Given the description of an element on the screen output the (x, y) to click on. 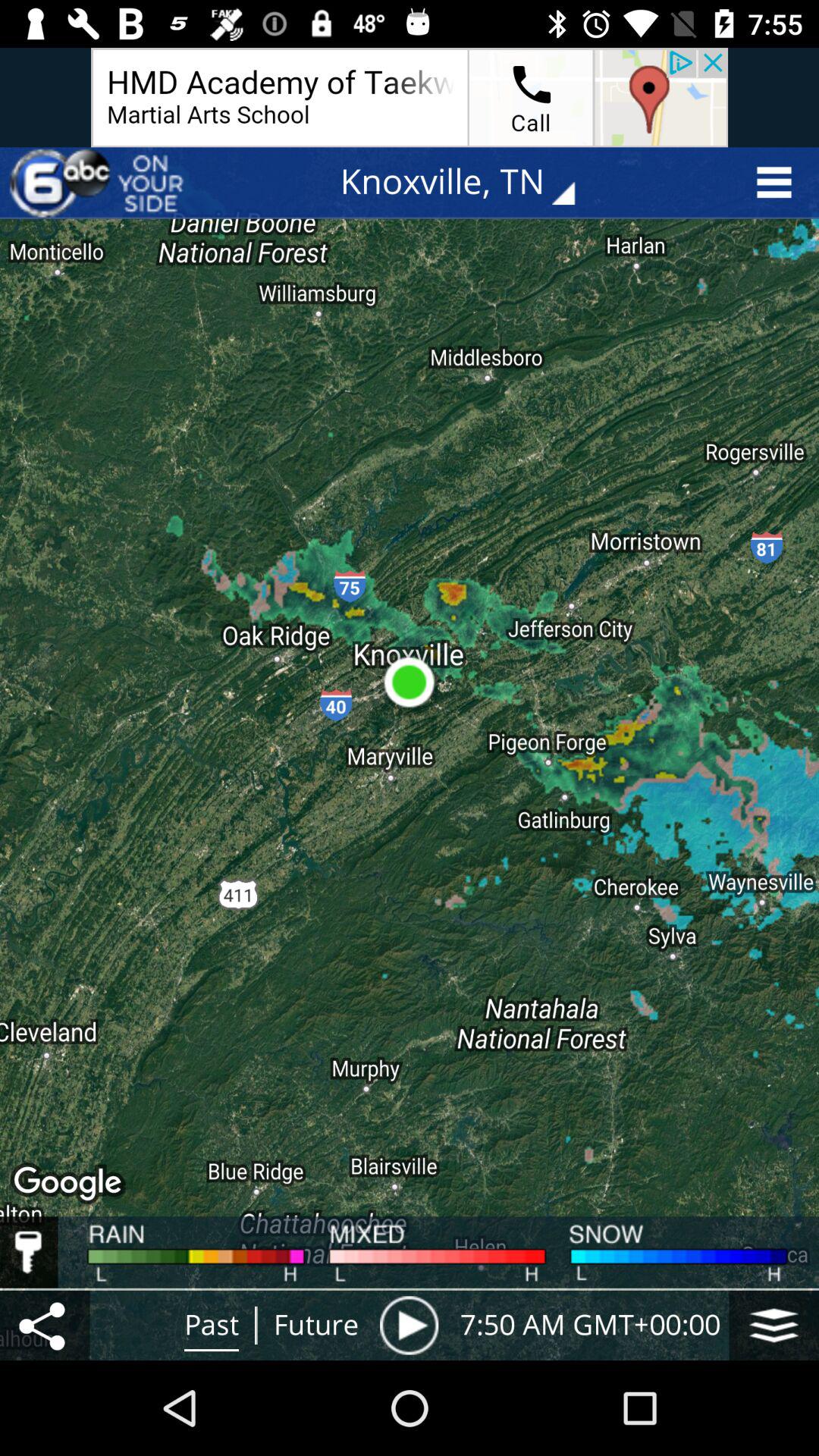
open icon next to past (44, 1325)
